Given the description of an element on the screen output the (x, y) to click on. 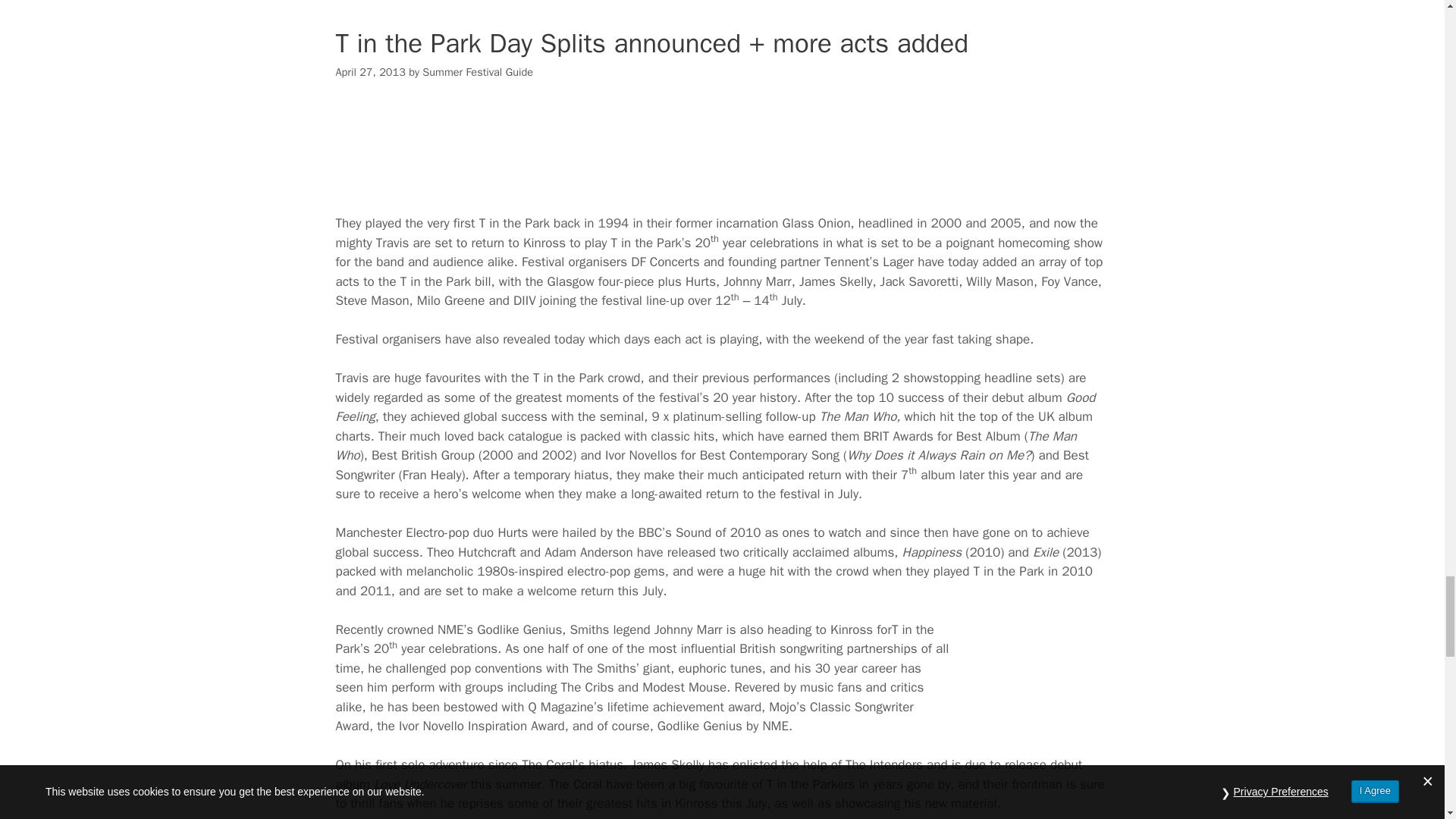
View all posts by Summer Festival Guide (477, 71)
